Given the description of an element on the screen output the (x, y) to click on. 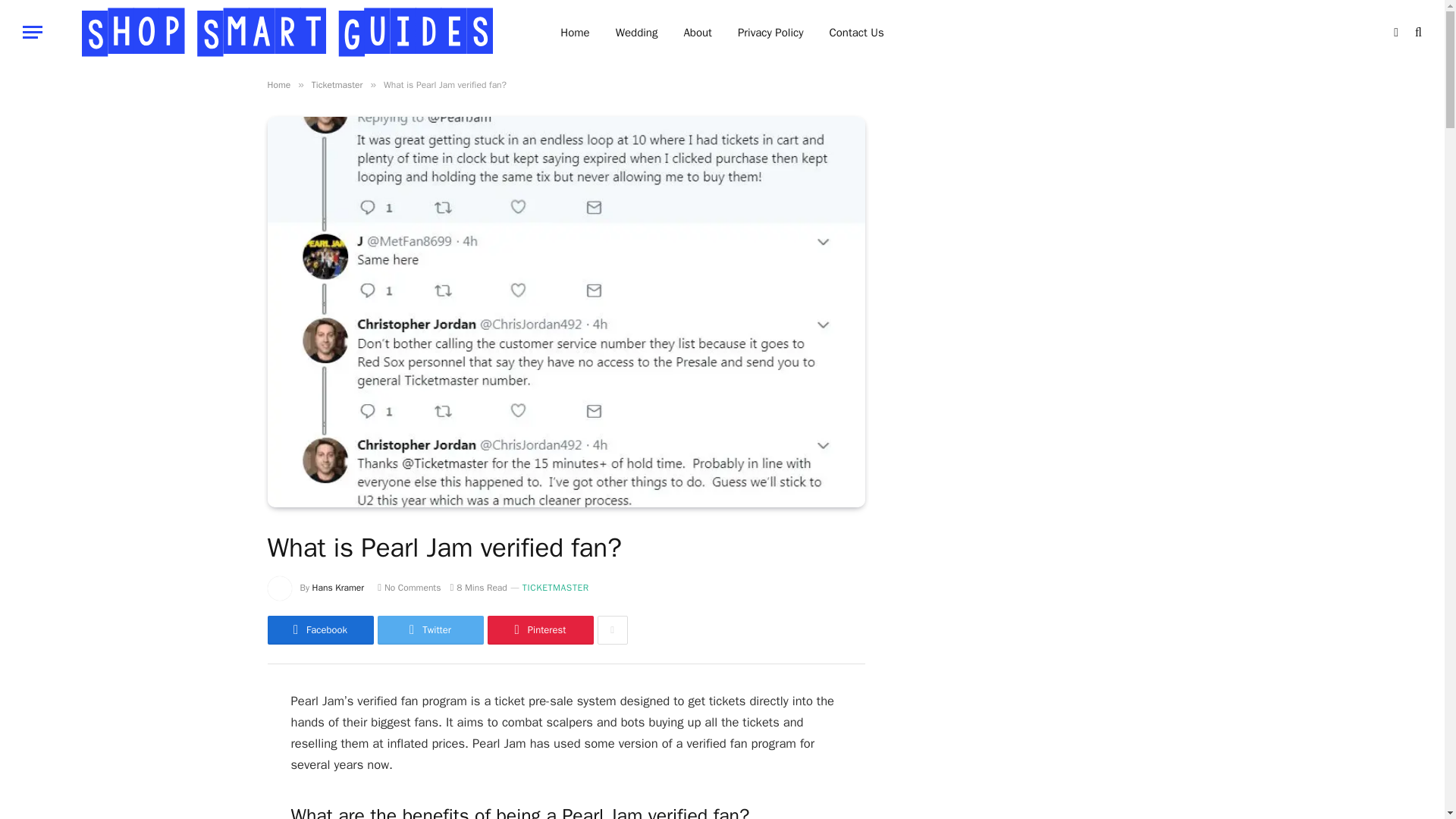
TICKETMASTER (555, 588)
Wedding (636, 32)
Switch to Dark Design - easier on eyes. (1396, 31)
Home (277, 84)
About (696, 32)
Ticketmaster (336, 84)
Hans Kramer (339, 587)
Privacy Policy (770, 32)
Posts by Hans Kramer (339, 587)
Home (574, 32)
Contact Us (855, 32)
Shop Smart Guides (287, 32)
Share on Facebook (319, 629)
Facebook (319, 629)
